Given the description of an element on the screen output the (x, y) to click on. 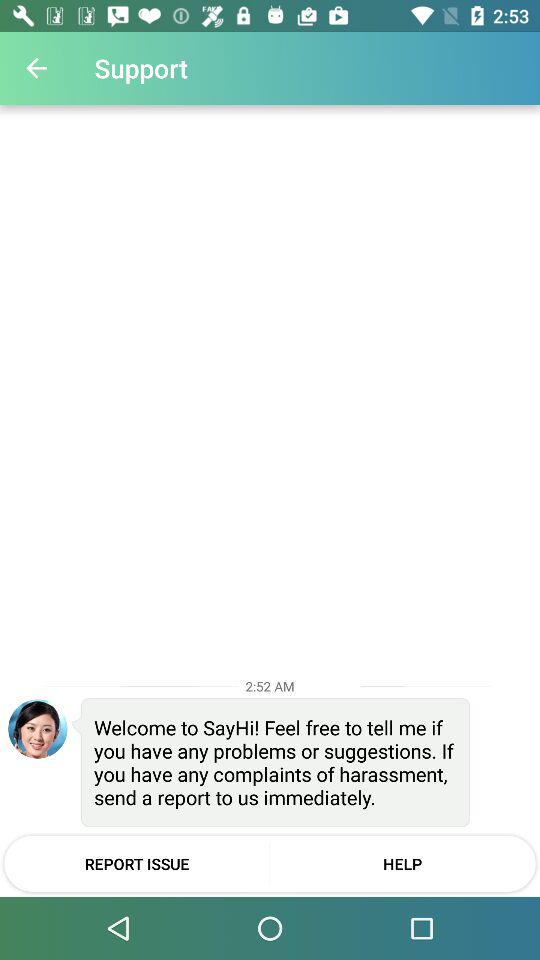
select help (402, 863)
